Given the description of an element on the screen output the (x, y) to click on. 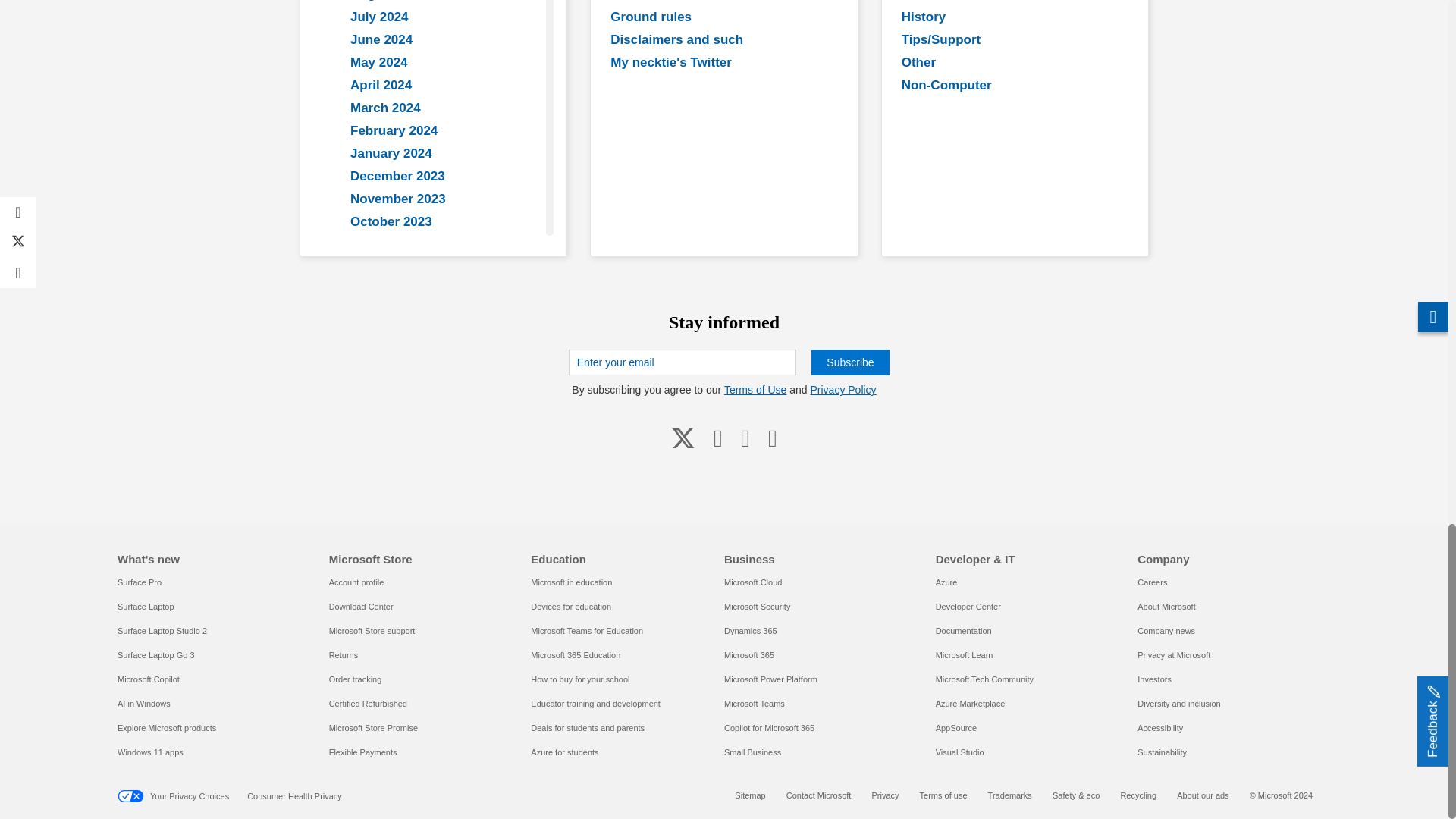
Subscribe (849, 362)
GitHub (745, 437)
RSS Feed (772, 437)
twitter (683, 437)
youtube (718, 437)
